Given the description of an element on the screen output the (x, y) to click on. 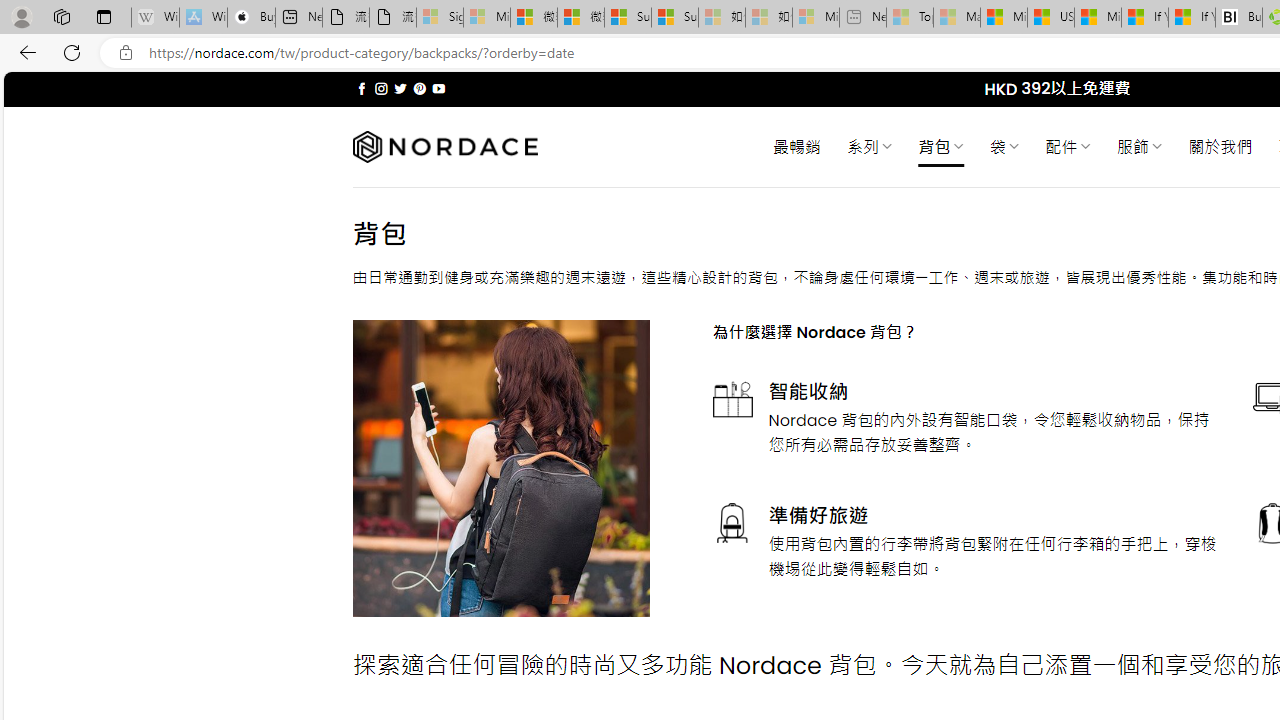
US Heat Deaths Soared To Record High Last Year (1050, 17)
Follow on Instagram (381, 88)
Follow on Twitter (400, 88)
Top Stories - MSN - Sleeping (910, 17)
Follow on Facebook (361, 88)
Buy iPad - Apple (251, 17)
Microsoft account | Account Checkup - Sleeping (815, 17)
